Given the description of an element on the screen output the (x, y) to click on. 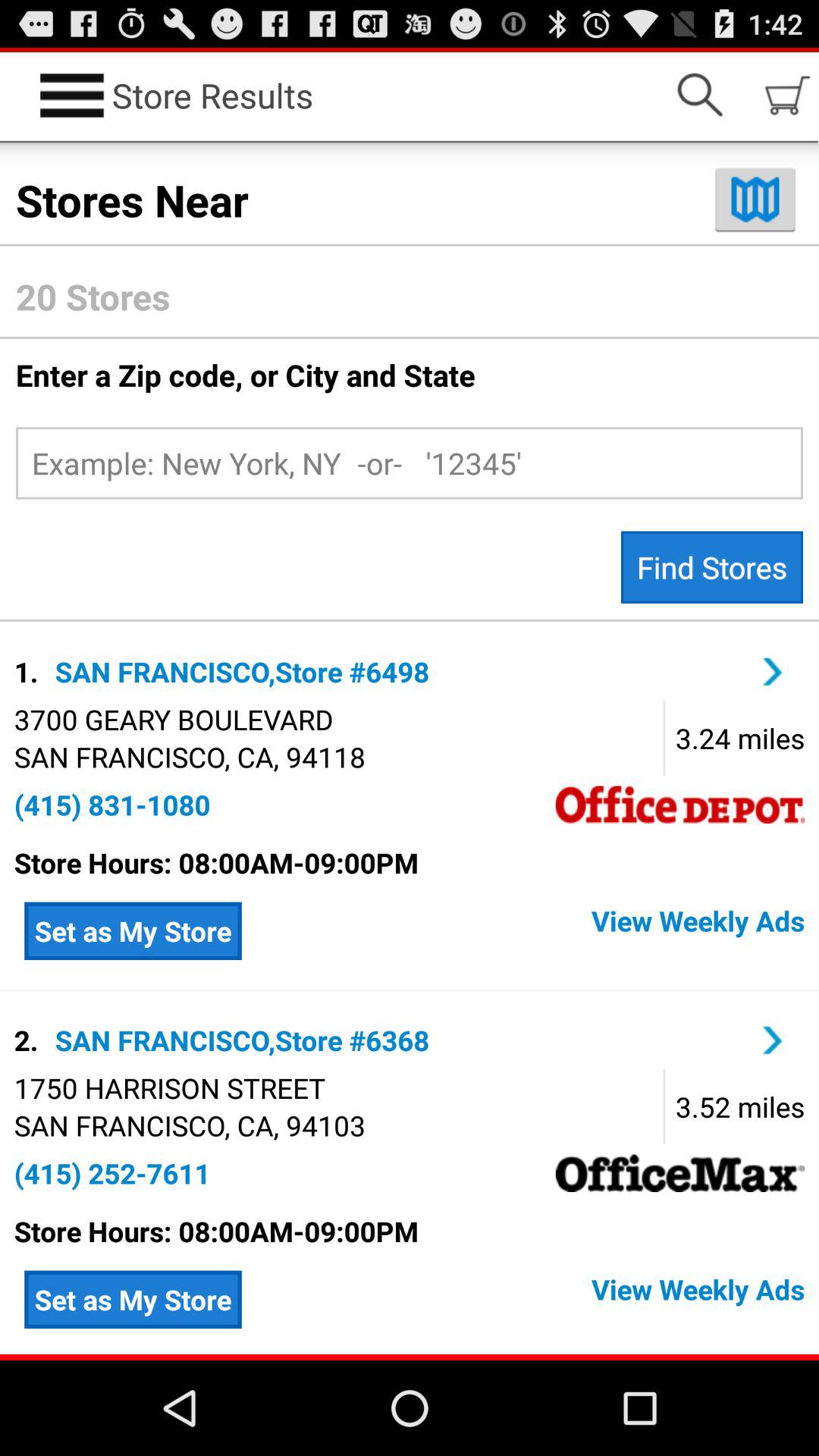
see more details (772, 671)
